Given the description of an element on the screen output the (x, y) to click on. 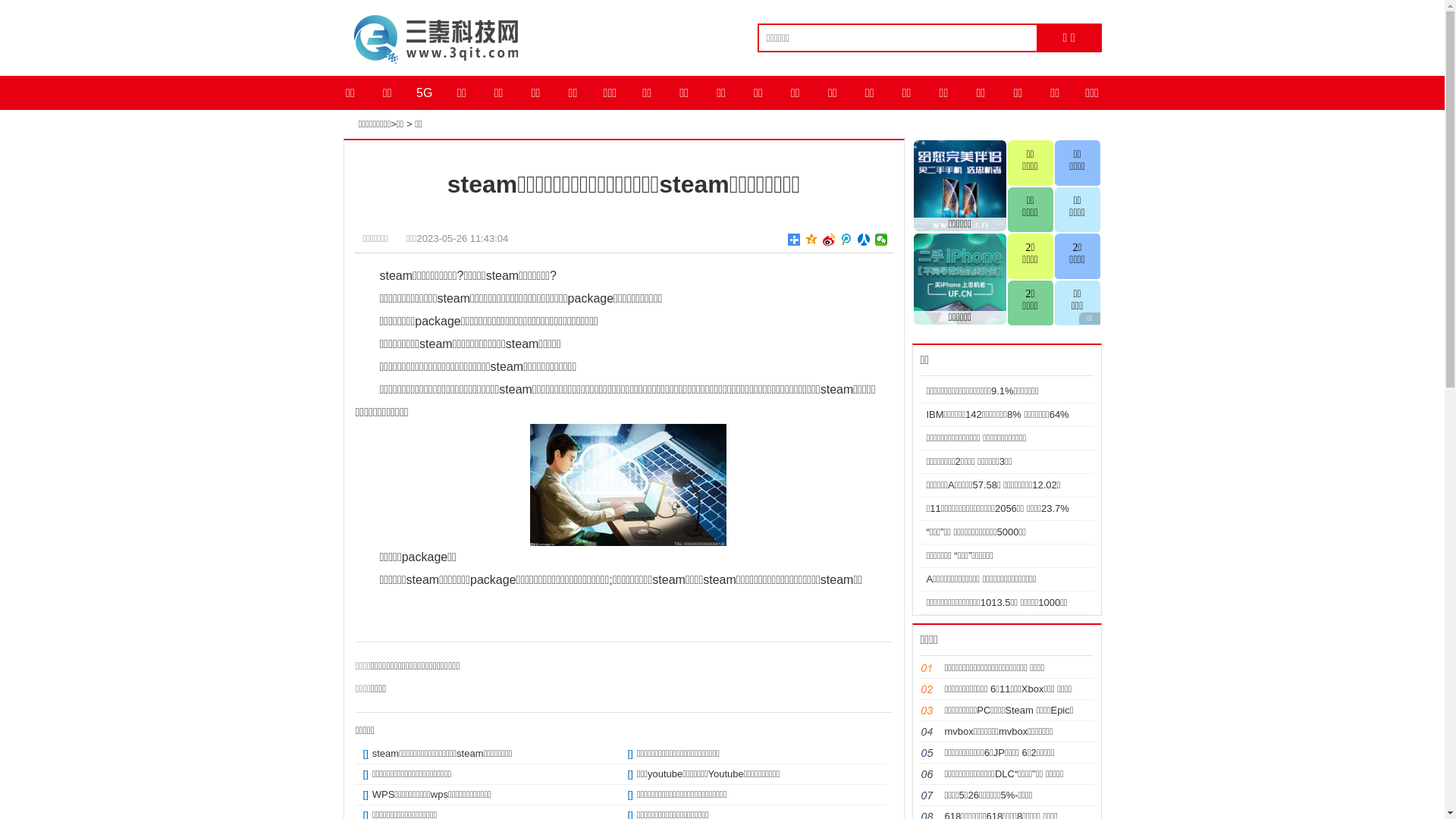
5G Element type: text (423, 92)
